Given the description of an element on the screen output the (x, y) to click on. 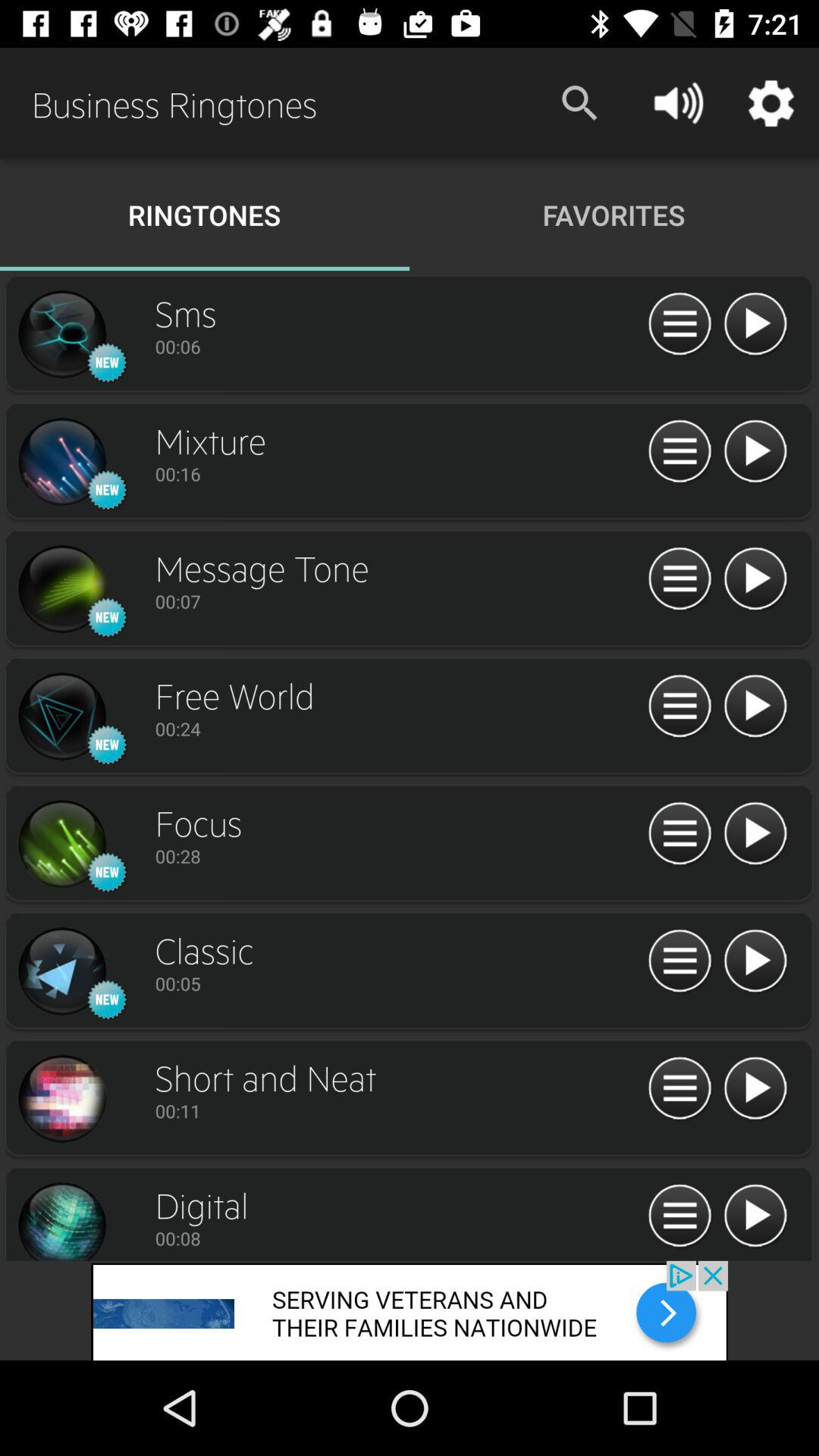
select the play button (755, 1088)
